Given the description of an element on the screen output the (x, y) to click on. 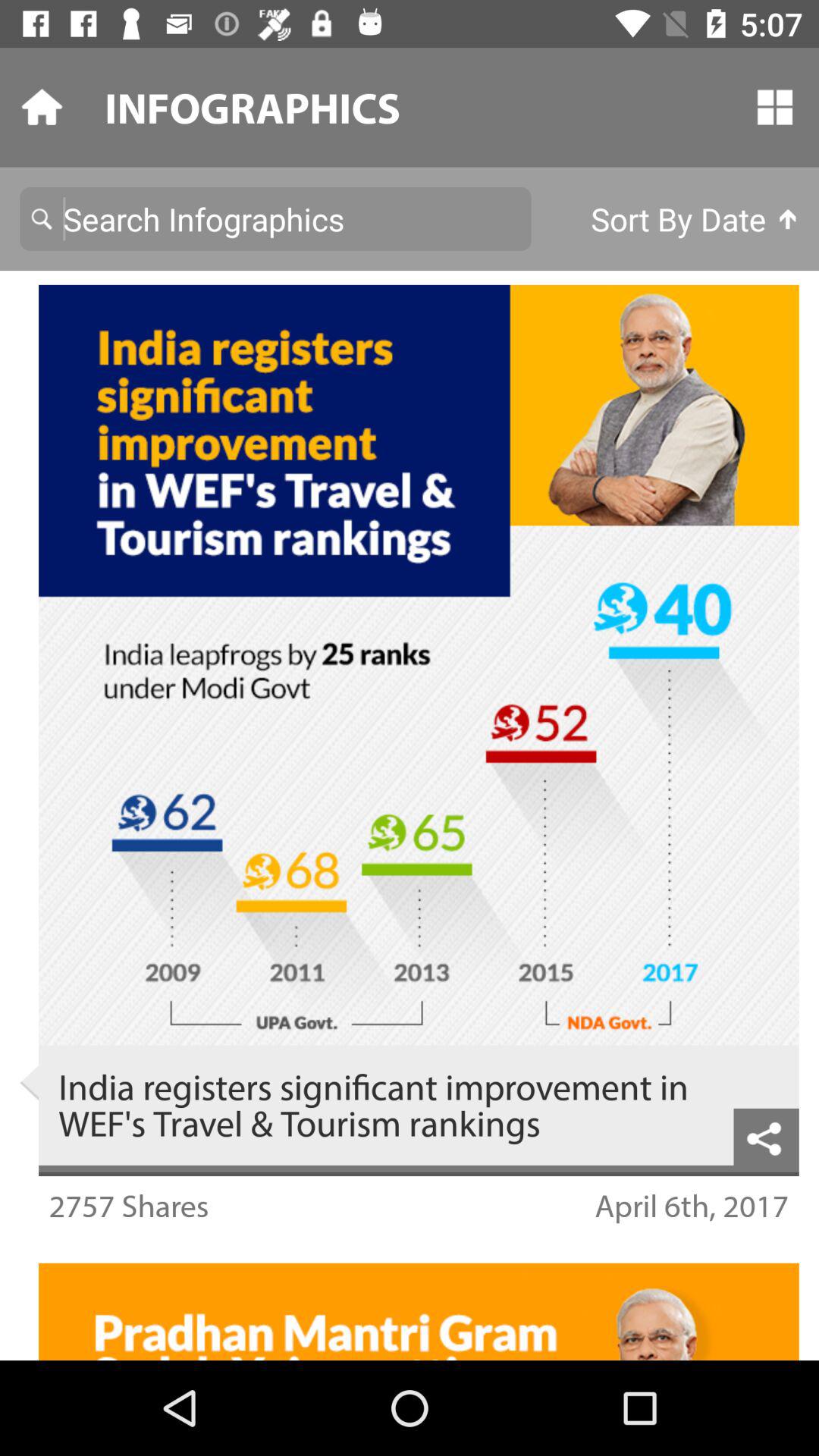
open icon to the left of the sort by date icon (275, 218)
